Given the description of an element on the screen output the (x, y) to click on. 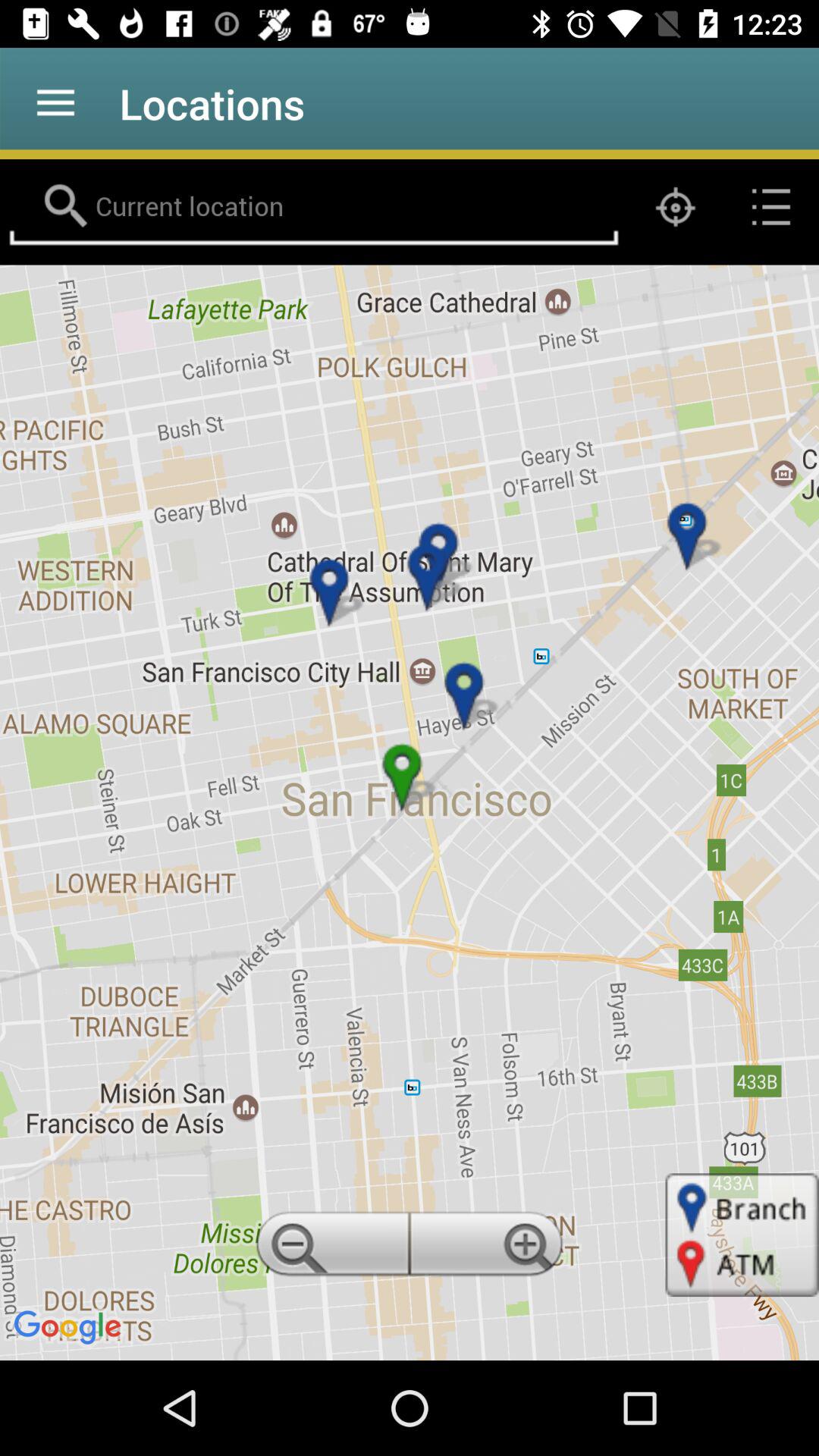
enter location (313, 206)
